Given the description of an element on the screen output the (x, y) to click on. 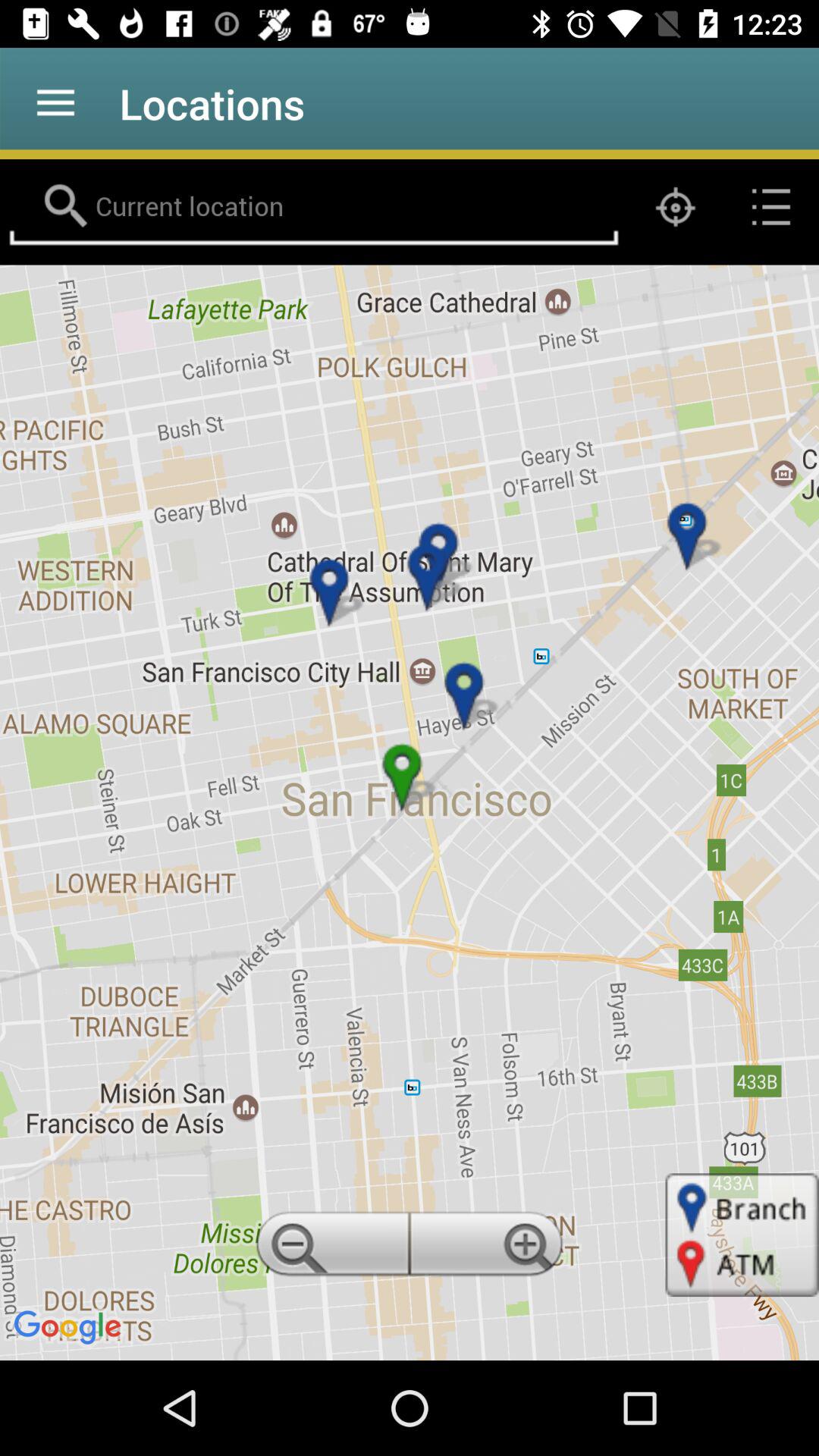
enter location (313, 206)
